Given the description of an element on the screen output the (x, y) to click on. 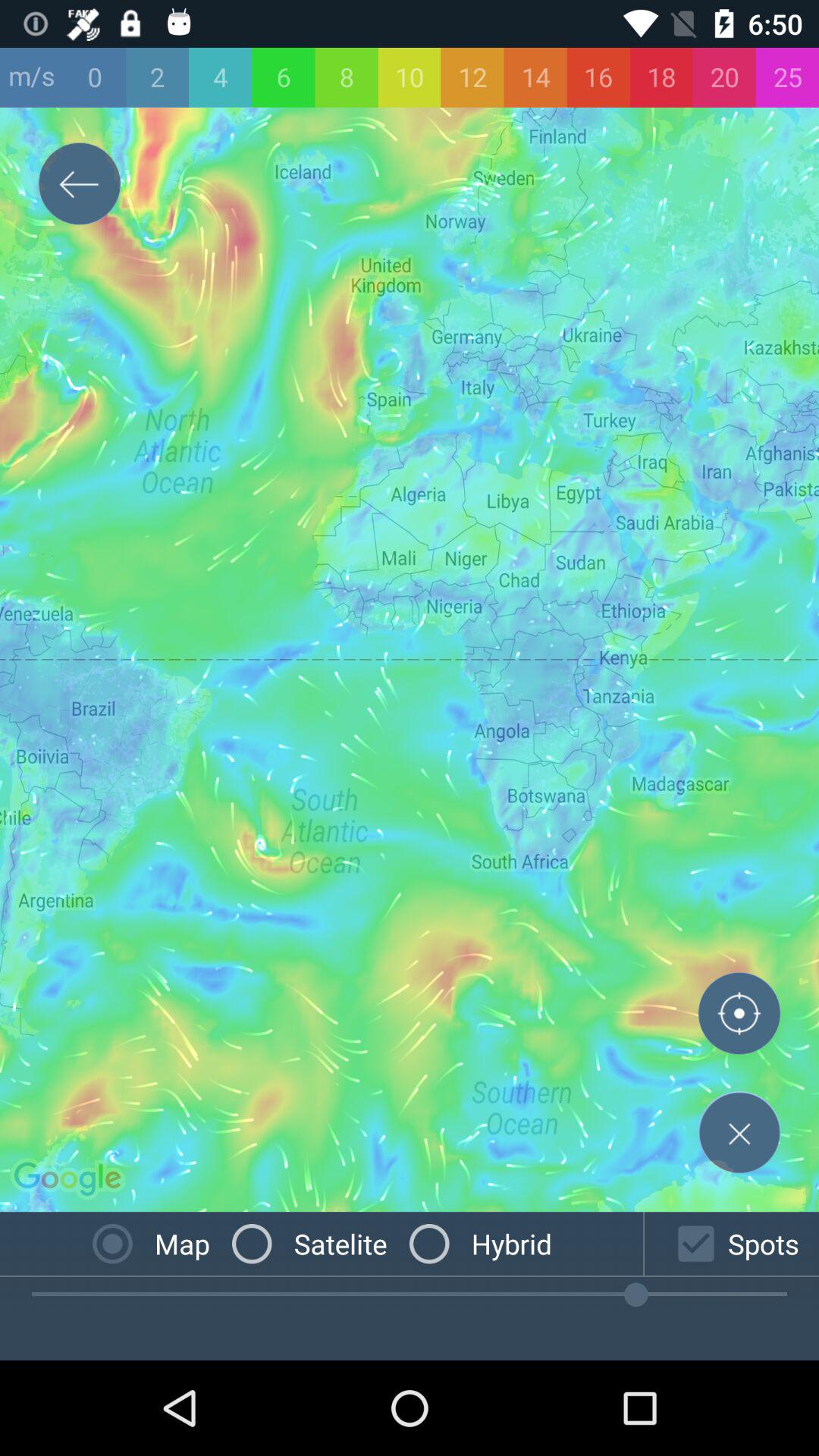
go back (79, 186)
